Given the description of an element on the screen output the (x, y) to click on. 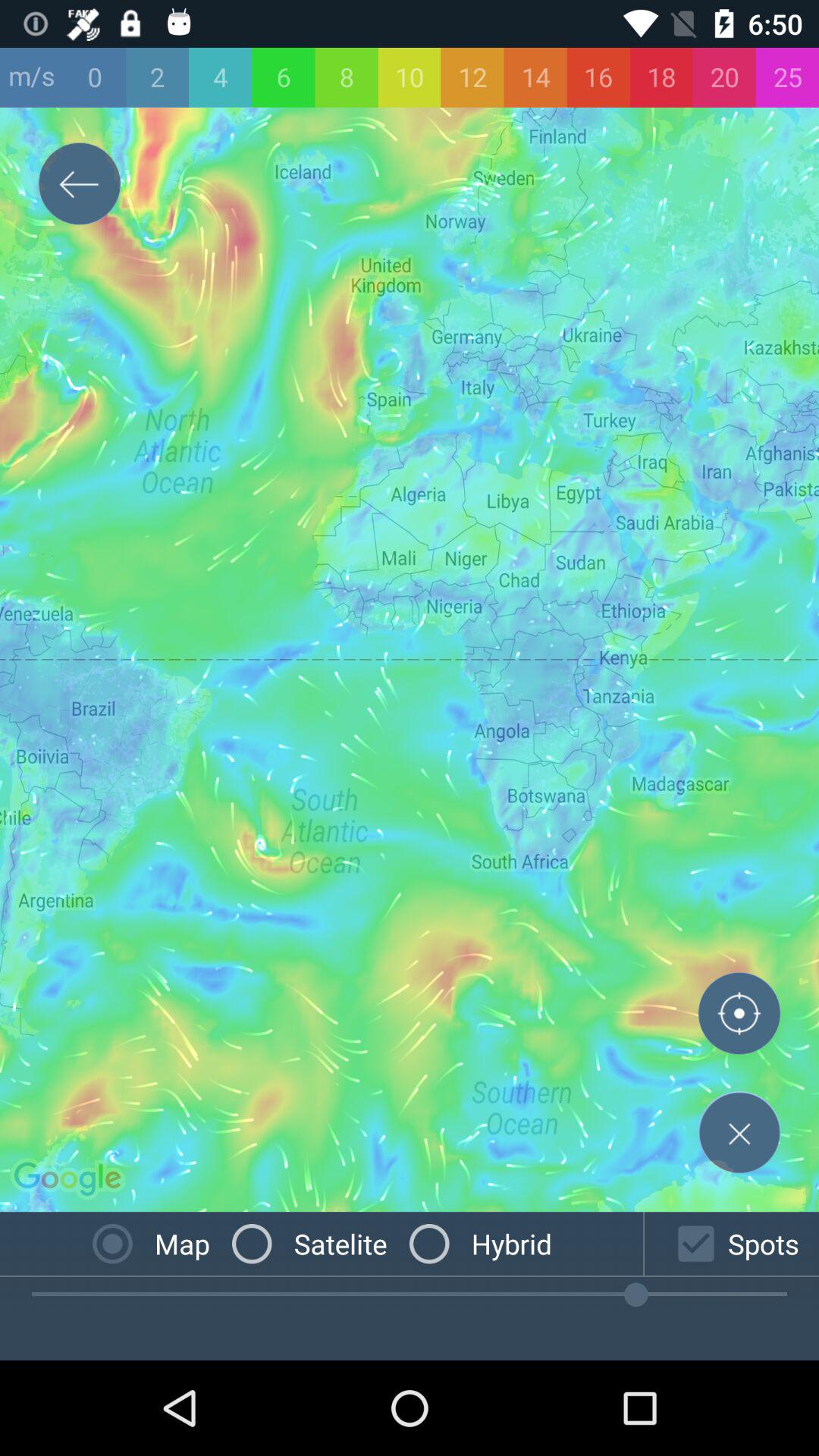
go back (79, 186)
